Given the description of an element on the screen output the (x, y) to click on. 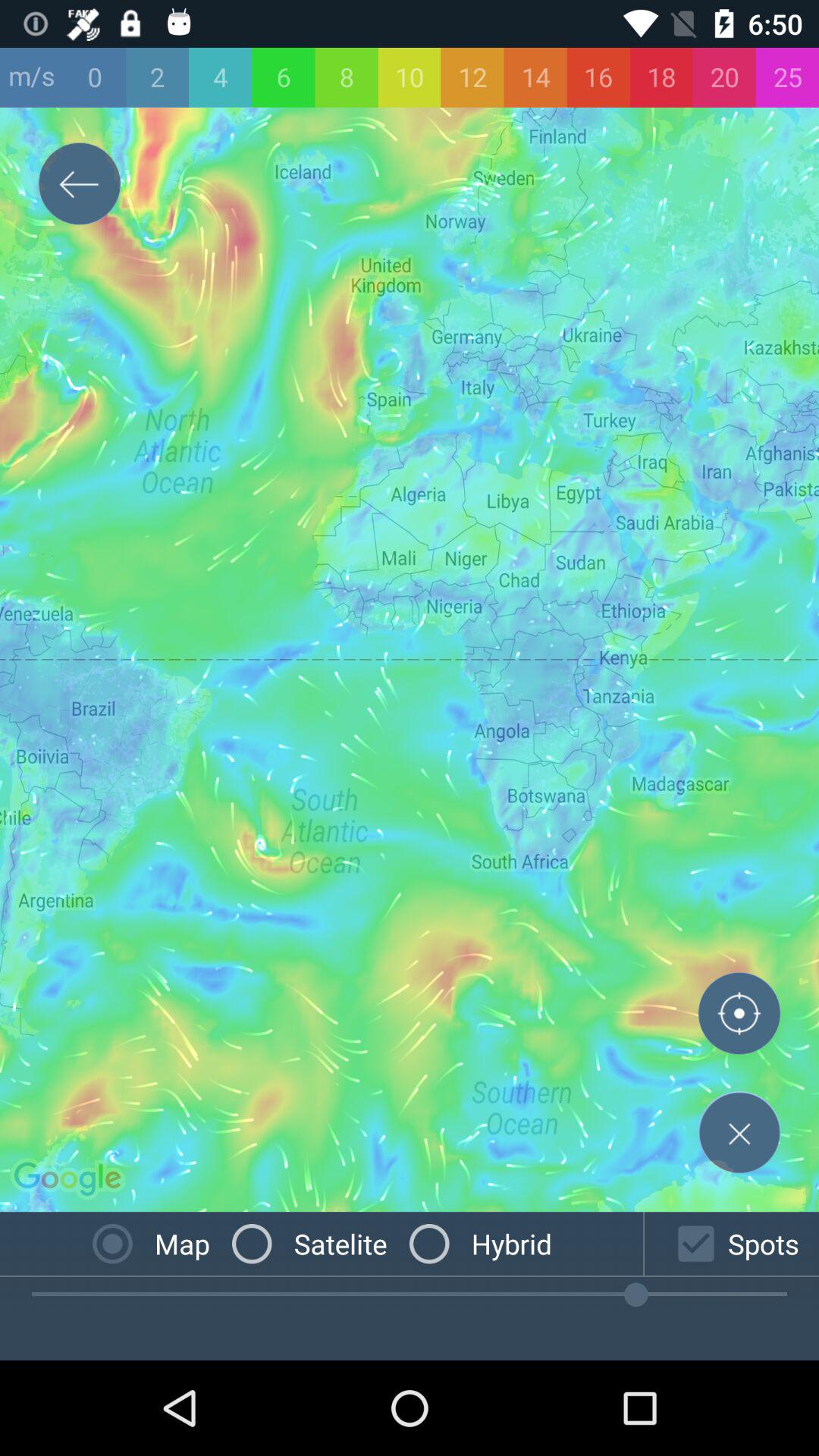
go back (79, 186)
